Given the description of an element on the screen output the (x, y) to click on. 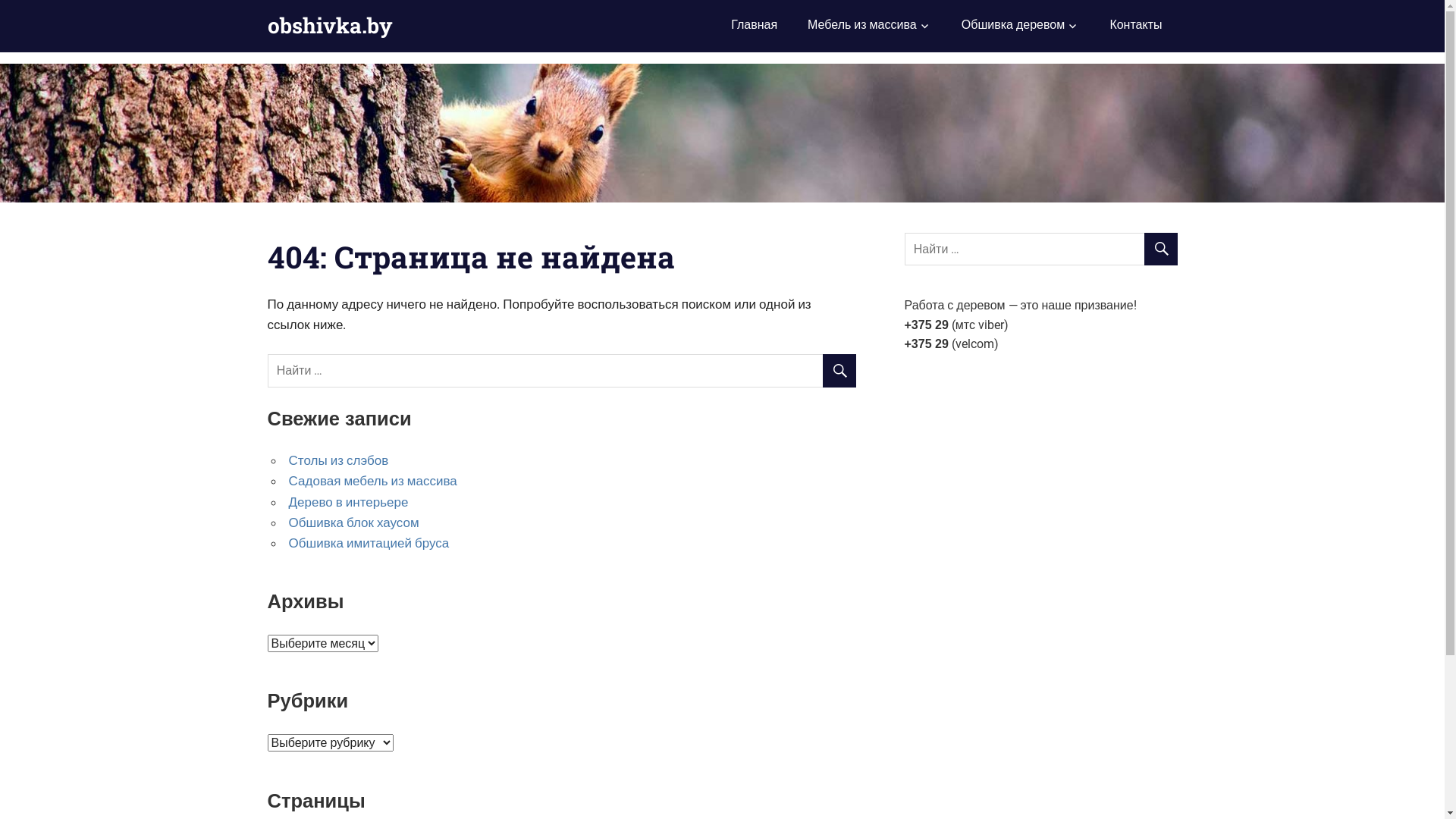
obshivka.by Element type: text (329, 25)
